Given the description of an element on the screen output the (x, y) to click on. 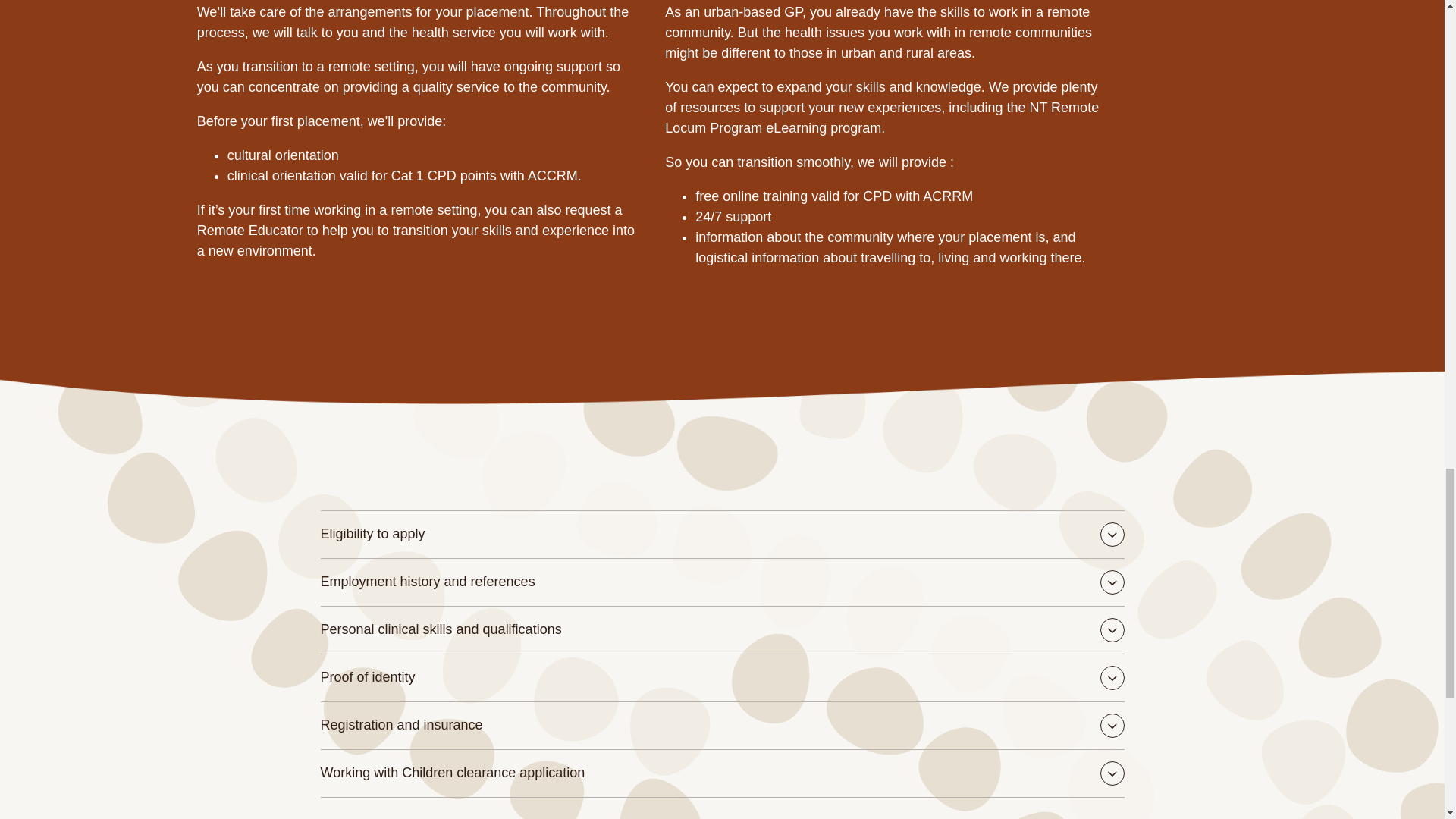
Registration and insurance (722, 725)
Eligibility to apply (722, 534)
Personal clinical skills and qualifications (722, 629)
Employment history and references (722, 582)
Proof of identity (722, 677)
Working with Children clearance application (722, 773)
